Given the description of an element on the screen output the (x, y) to click on. 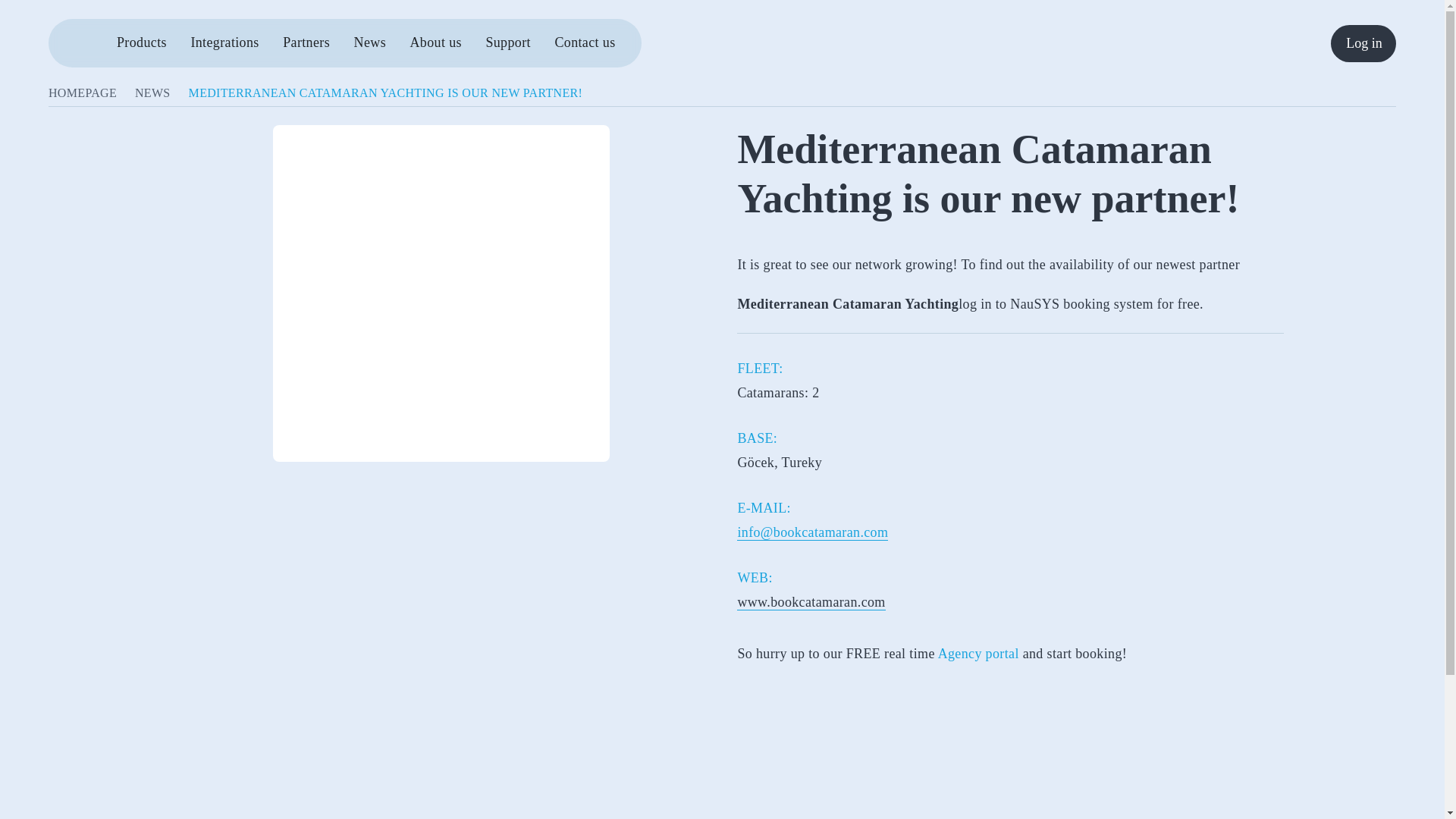
HOMEPAGE (82, 92)
Contact us (584, 42)
Products (141, 42)
News (369, 42)
Agency portal (978, 653)
Partners (306, 42)
www.bookcatamaran.com (810, 602)
Integrations (224, 42)
Support (507, 42)
NEWS (152, 92)
